Given the description of an element on the screen output the (x, y) to click on. 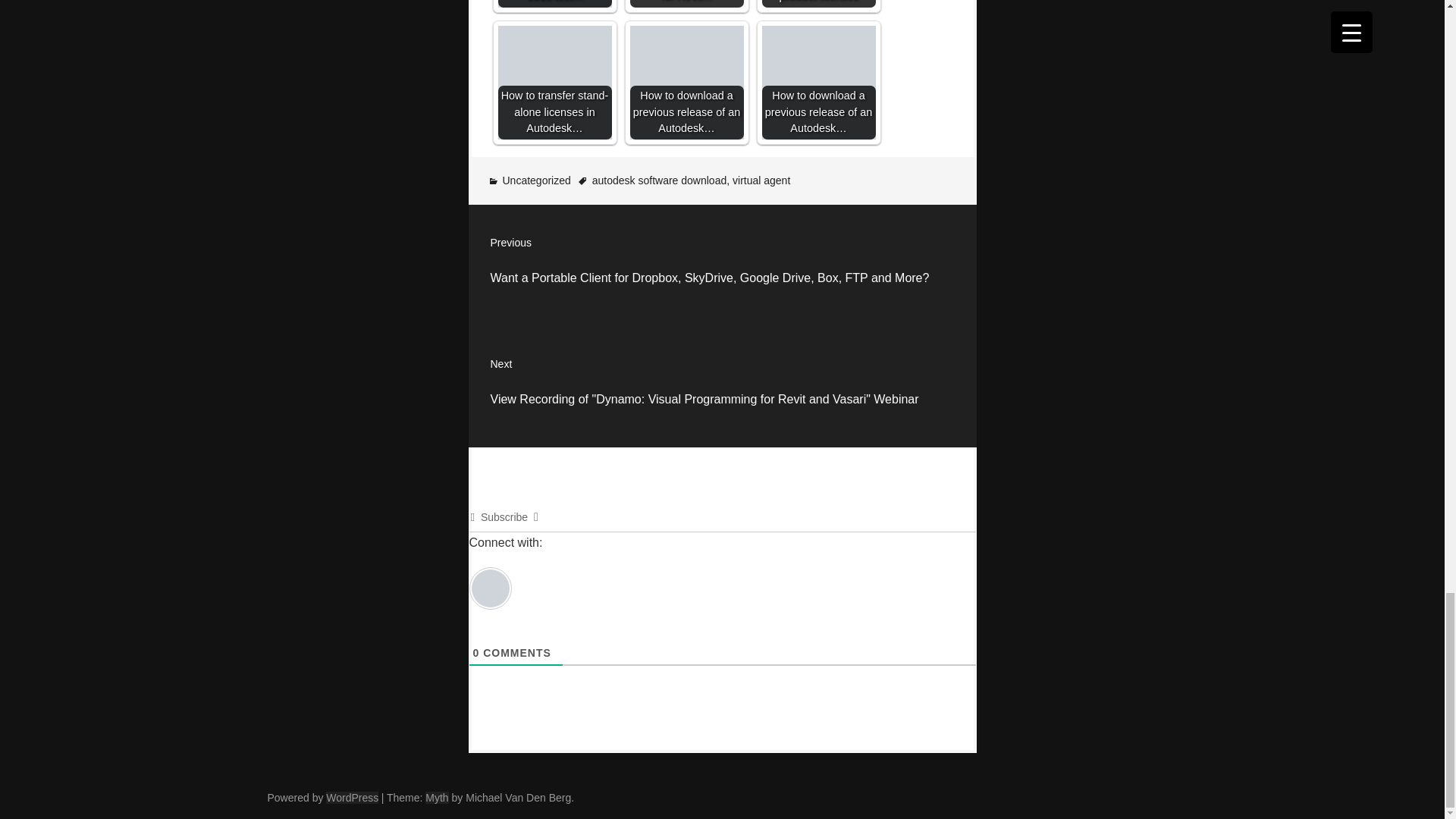
autodesk software download (659, 180)
Uncategorized (536, 180)
How to reset your stand-alone Autodesk product licenses (818, 3)
virtual agent (761, 180)
